Given the description of an element on the screen output the (x, y) to click on. 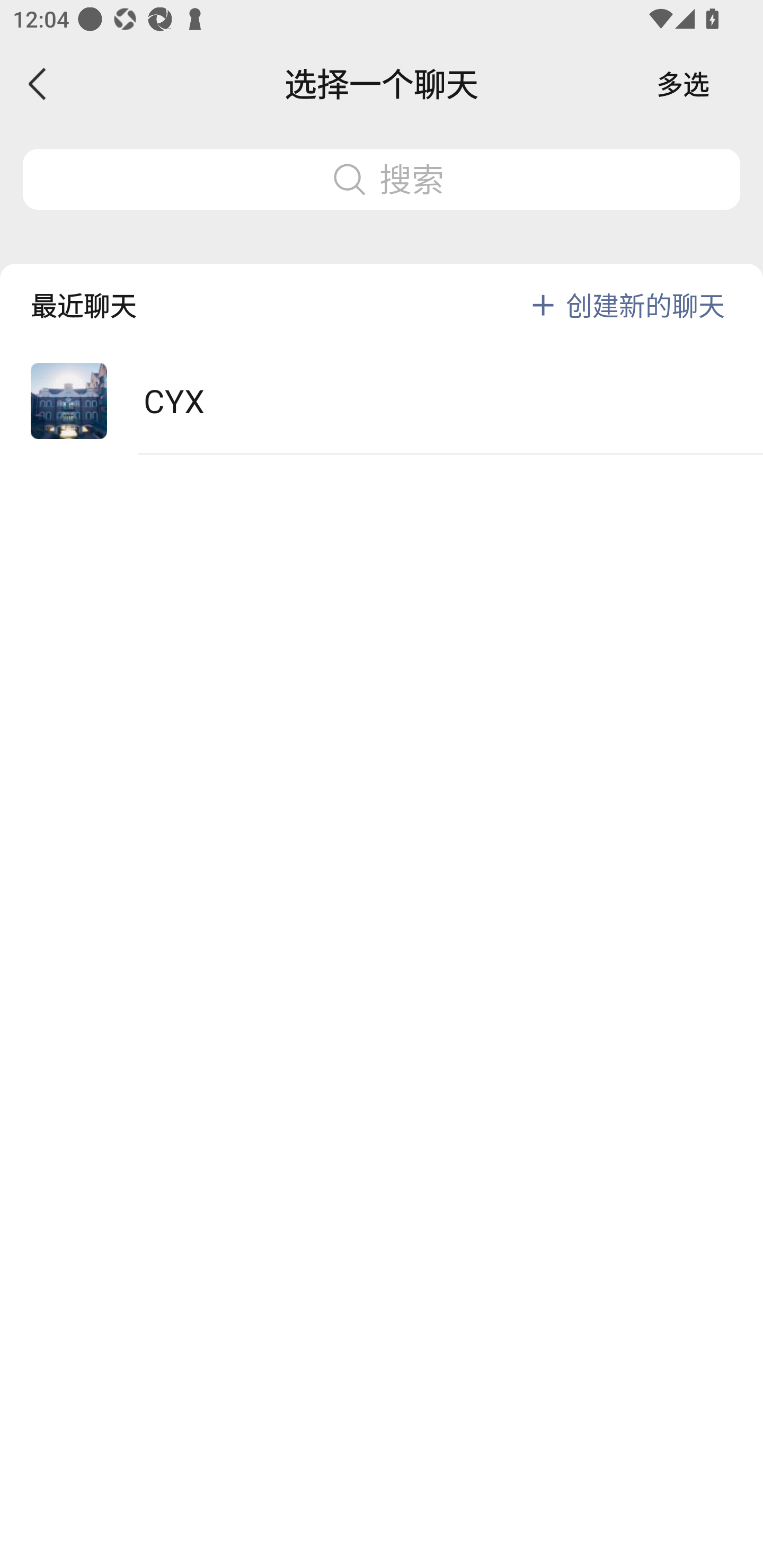
返回 (38, 83)
多选 (683, 83)
创建新的聊天 (645, 304)
CYX (381, 401)
